Given the description of an element on the screen output the (x, y) to click on. 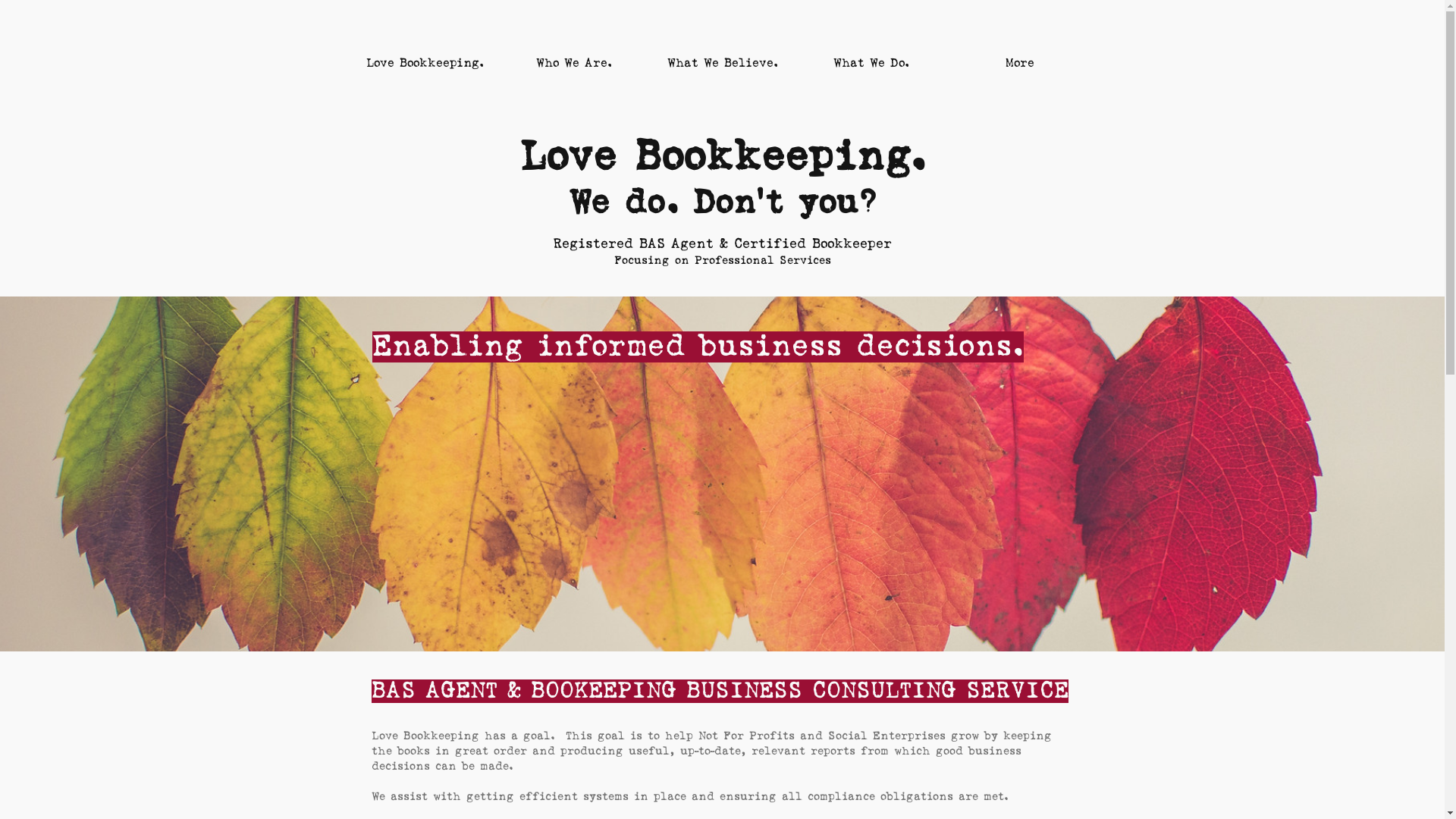
Who We Are. Element type: text (572, 63)
Love Bookkeeping. Element type: text (721, 157)
Love Bookkeeping. Element type: text (424, 63)
What We Do. Element type: text (870, 63)
What We Believe. Element type: text (721, 63)
